Given the description of an element on the screen output the (x, y) to click on. 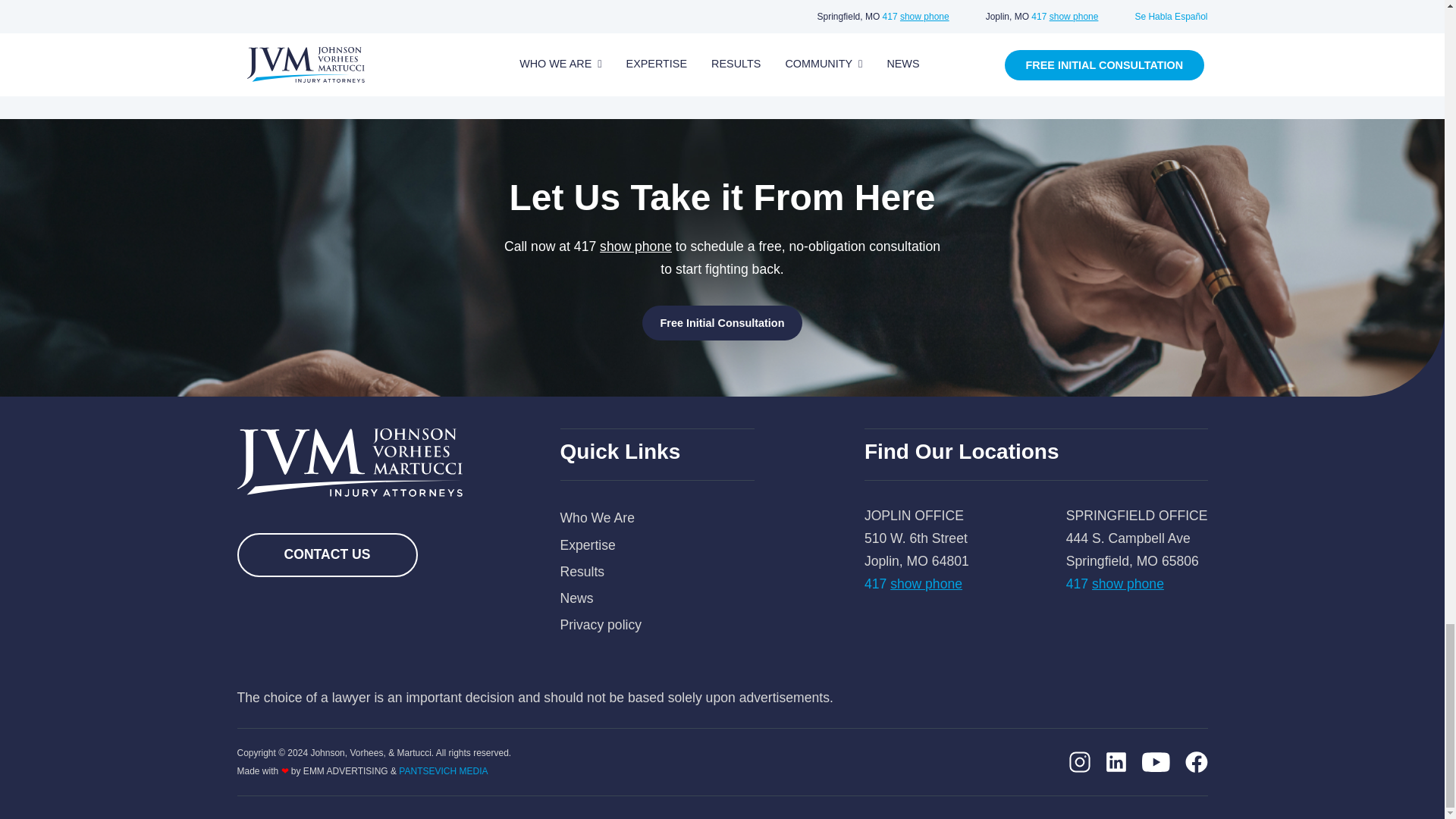
Free Initial Consultation (722, 322)
